Given the description of an element on the screen output the (x, y) to click on. 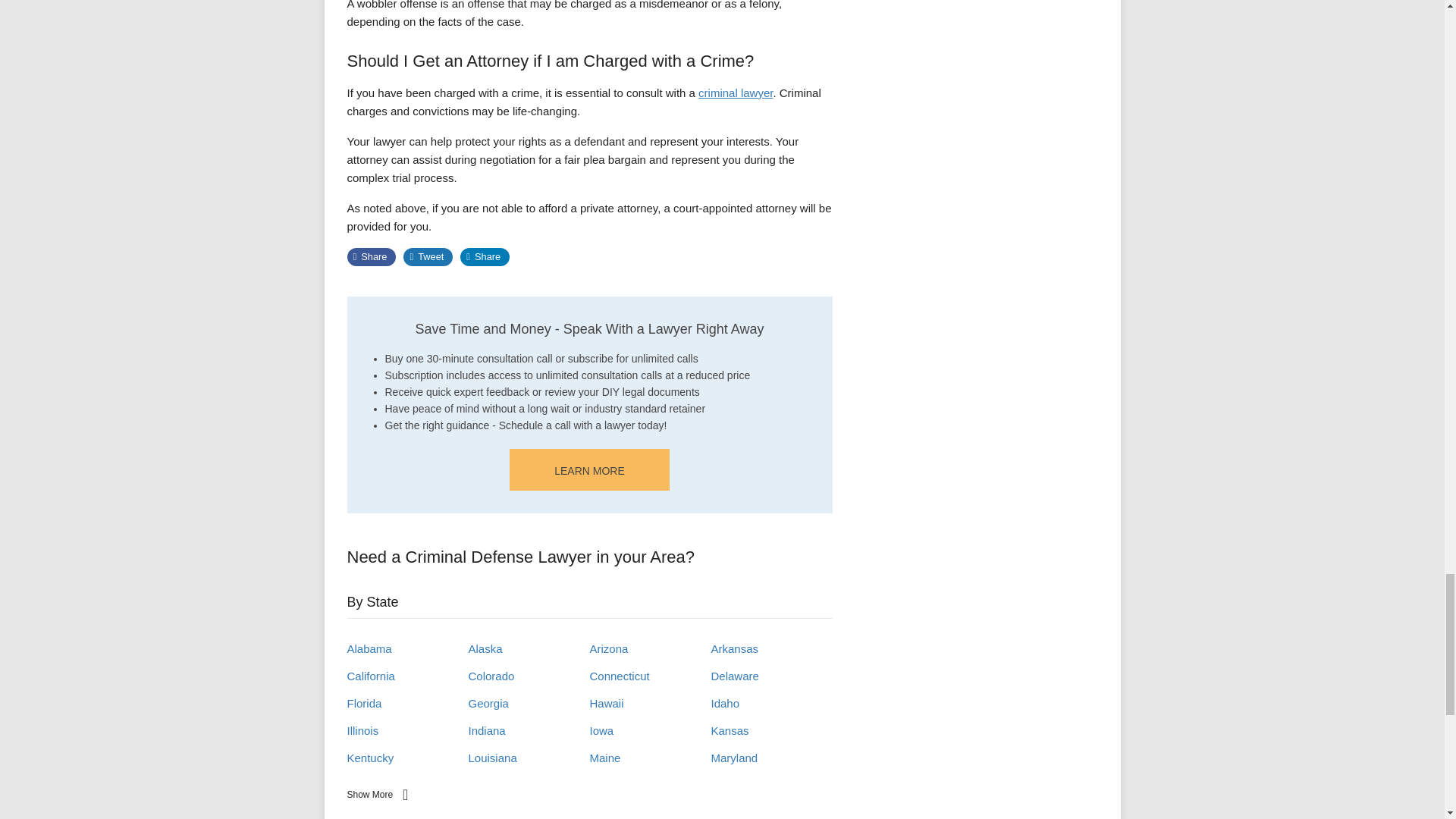
Share LawLib Page On Linkedin (484, 257)
Share LawLib Page On Facebook (371, 257)
Share LawLib Page On Twitter (427, 257)
